Given the description of an element on the screen output the (x, y) to click on. 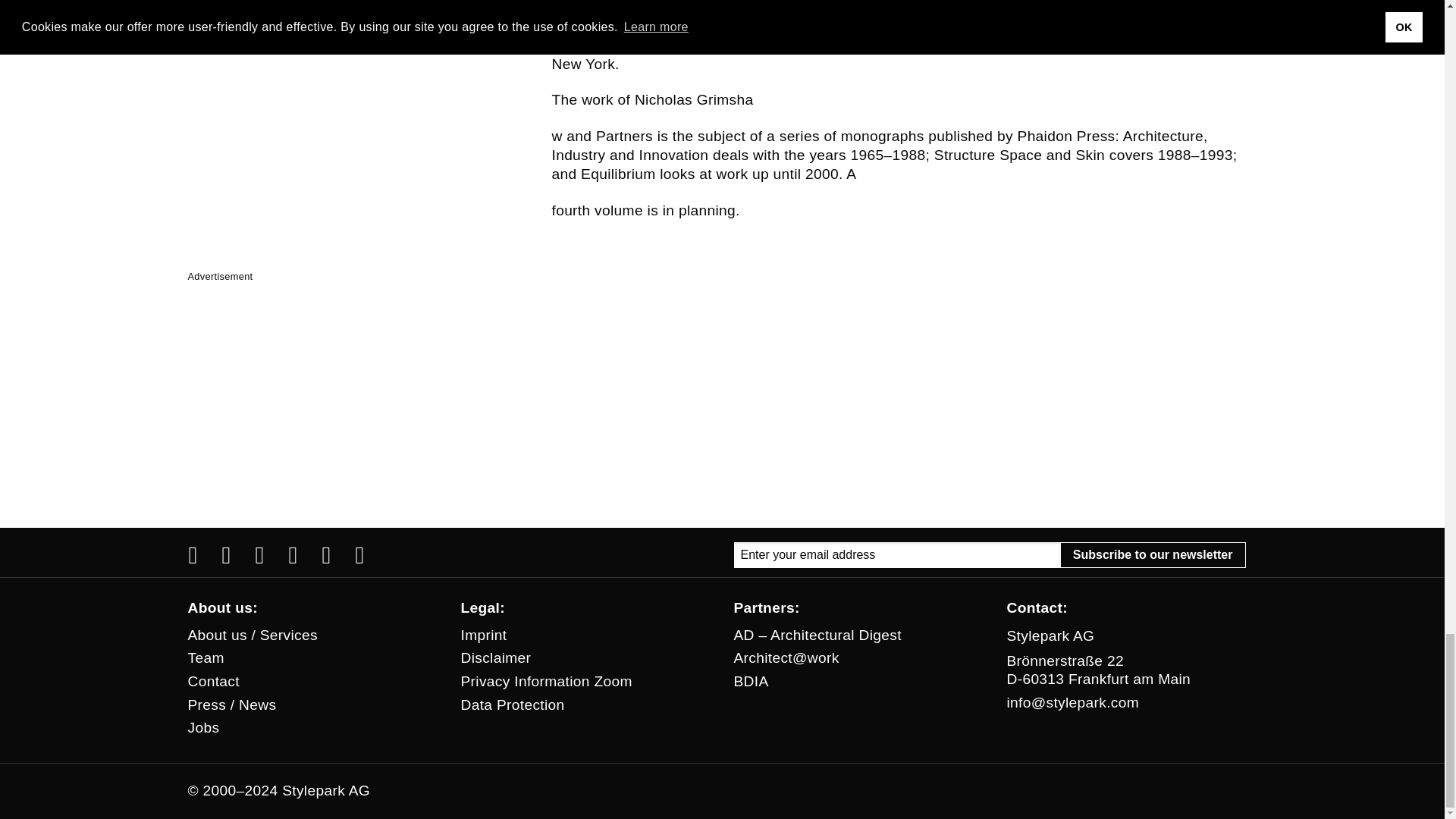
Subscribe to our newsletter (1152, 555)
